Given the description of an element on the screen output the (x, y) to click on. 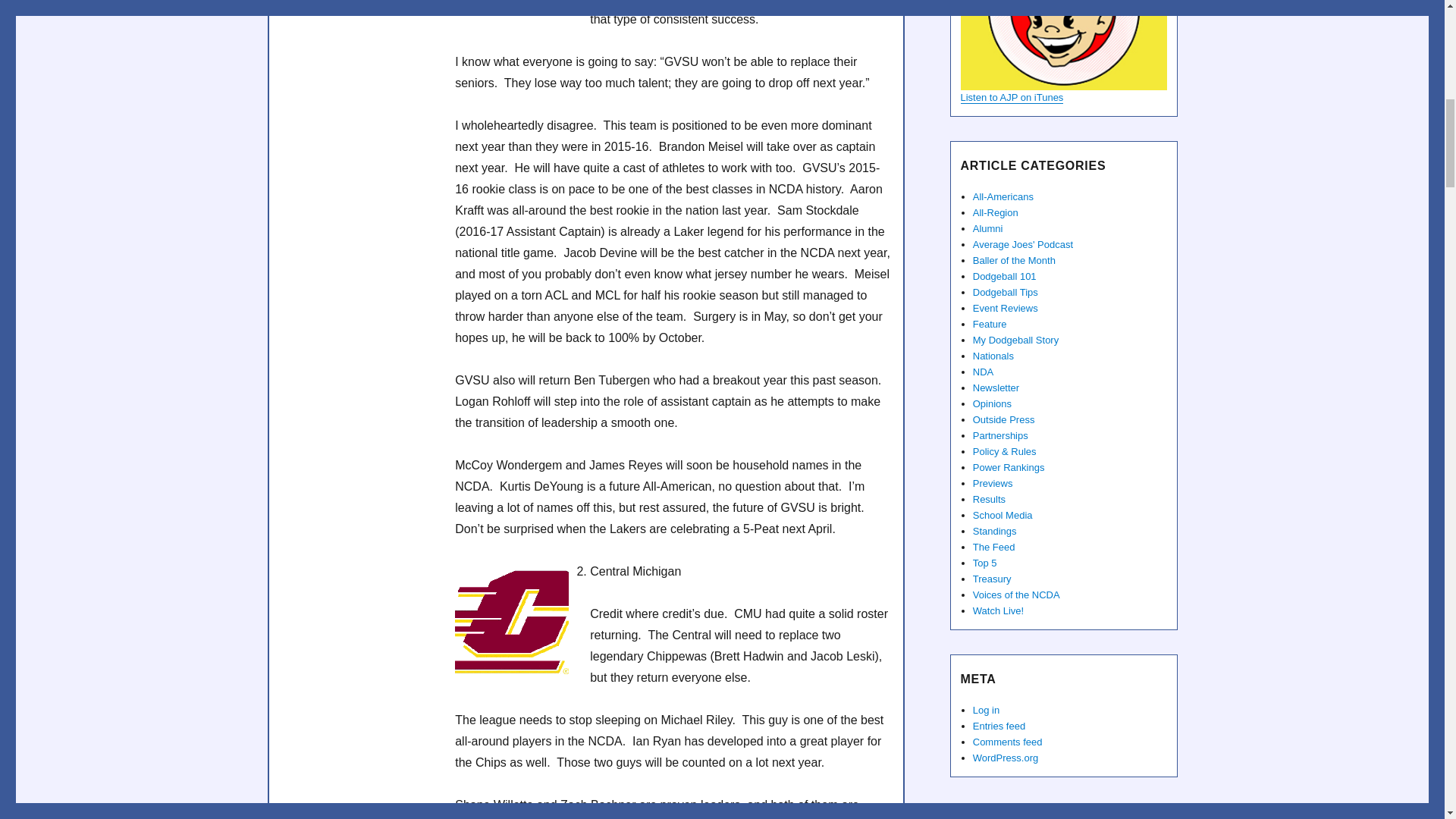
Average Joes' Podcast (1062, 45)
